Given the description of an element on the screen output the (x, y) to click on. 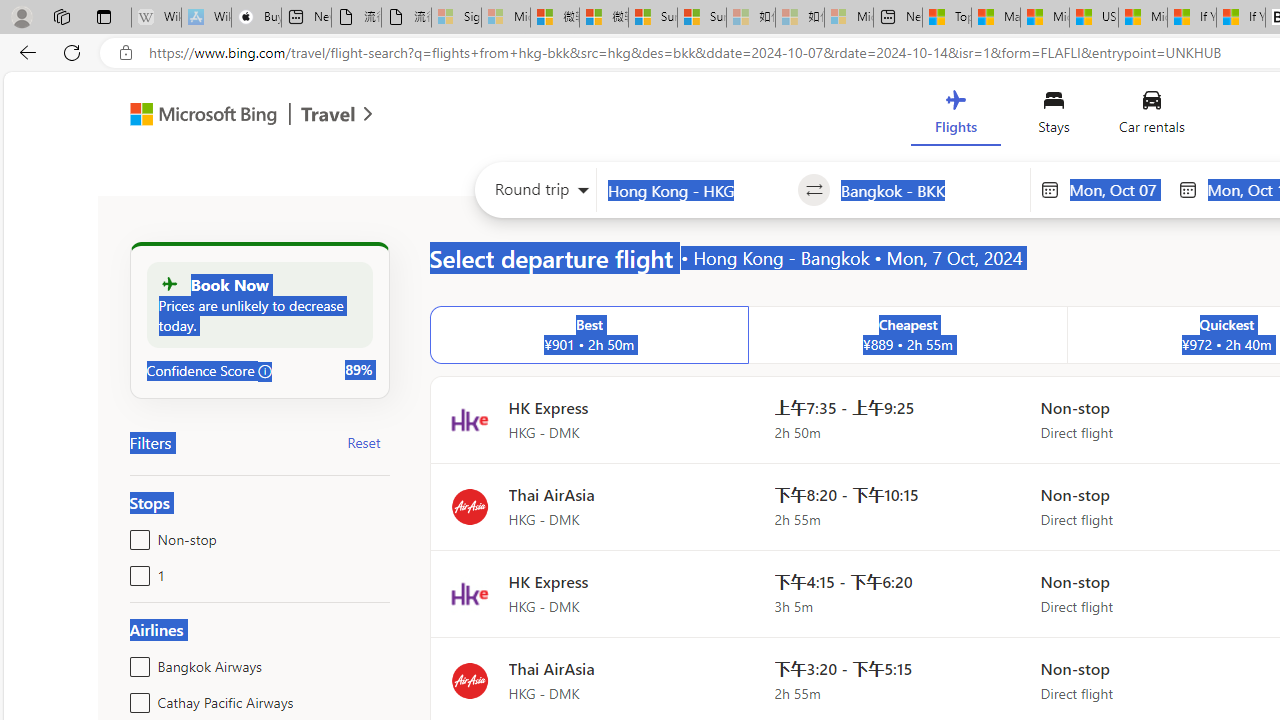
Sign in to your Microsoft account - Sleeping (456, 17)
Class: autosuggest-container full-height no-y-padding (930, 190)
Flight logo (469, 680)
Reset (363, 442)
Car rentals (1150, 116)
Select trip type (535, 193)
Buy iPad - Apple (256, 17)
